Given the description of an element on the screen output the (x, y) to click on. 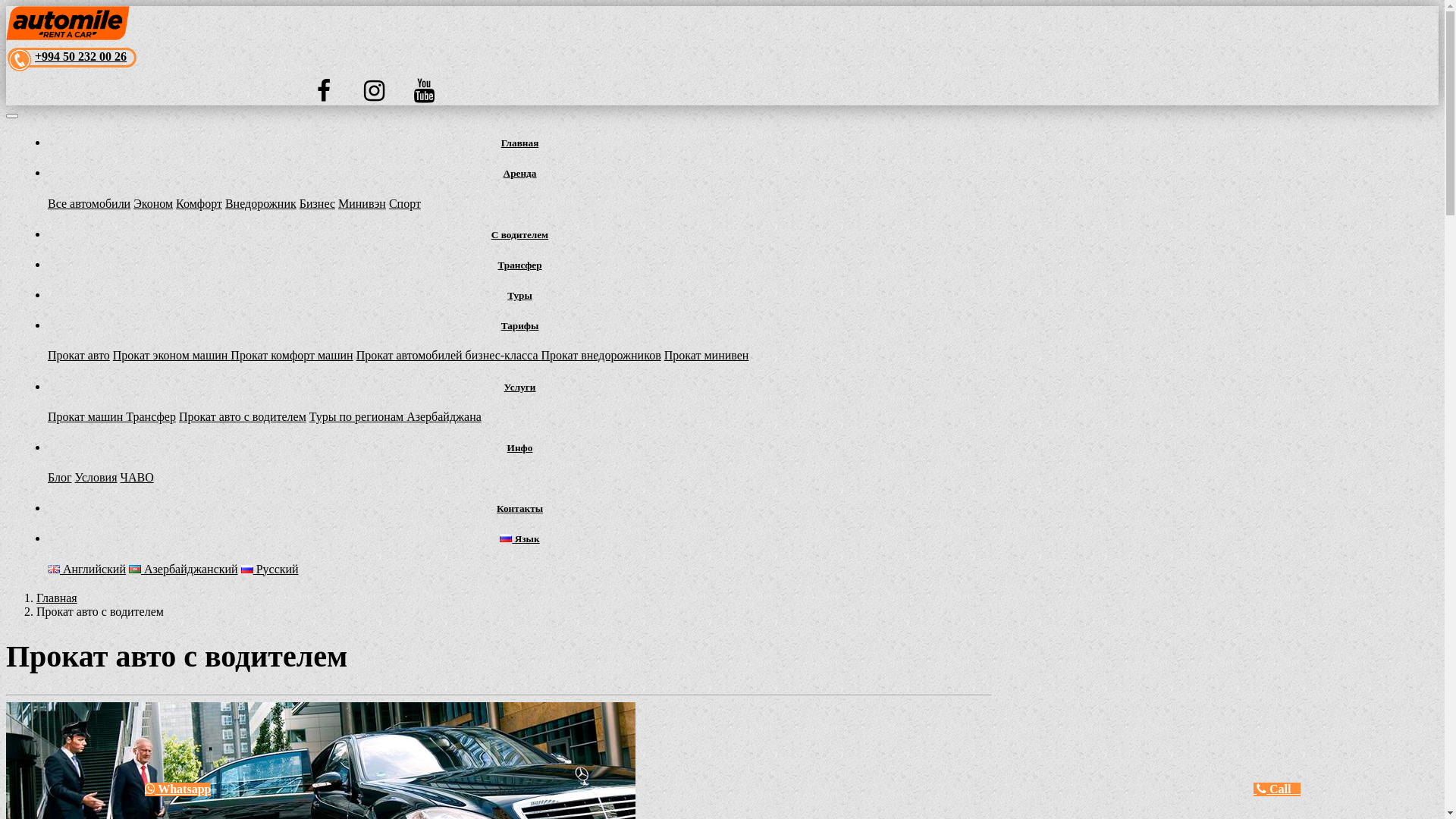
+994 50 232 00 26 Element type: text (80, 56)
Whatsapp Element type: text (177, 789)
  Call    Element type: text (1276, 789)
